Given the description of an element on the screen output the (x, y) to click on. 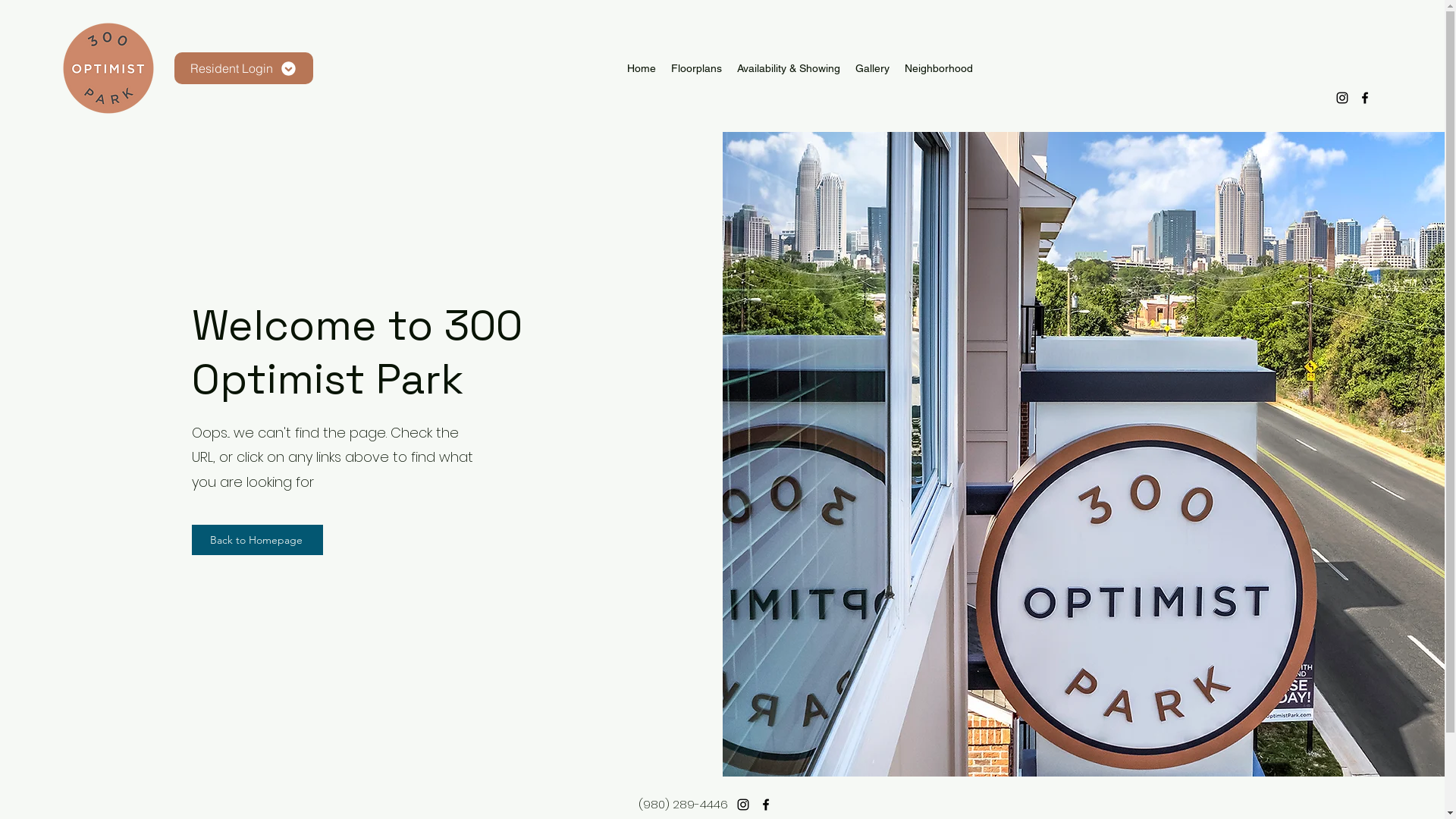
Back to Homepage Element type: text (257, 539)
Resident Login Element type: text (243, 68)
Availability & Showing Element type: text (788, 67)
Neighborhood Element type: text (937, 67)
Floorplans Element type: text (695, 67)
Gallery Element type: text (872, 67)
(980) 289-4446 Element type: text (683, 804)
Home Element type: text (640, 67)
